Given the description of an element on the screen output the (x, y) to click on. 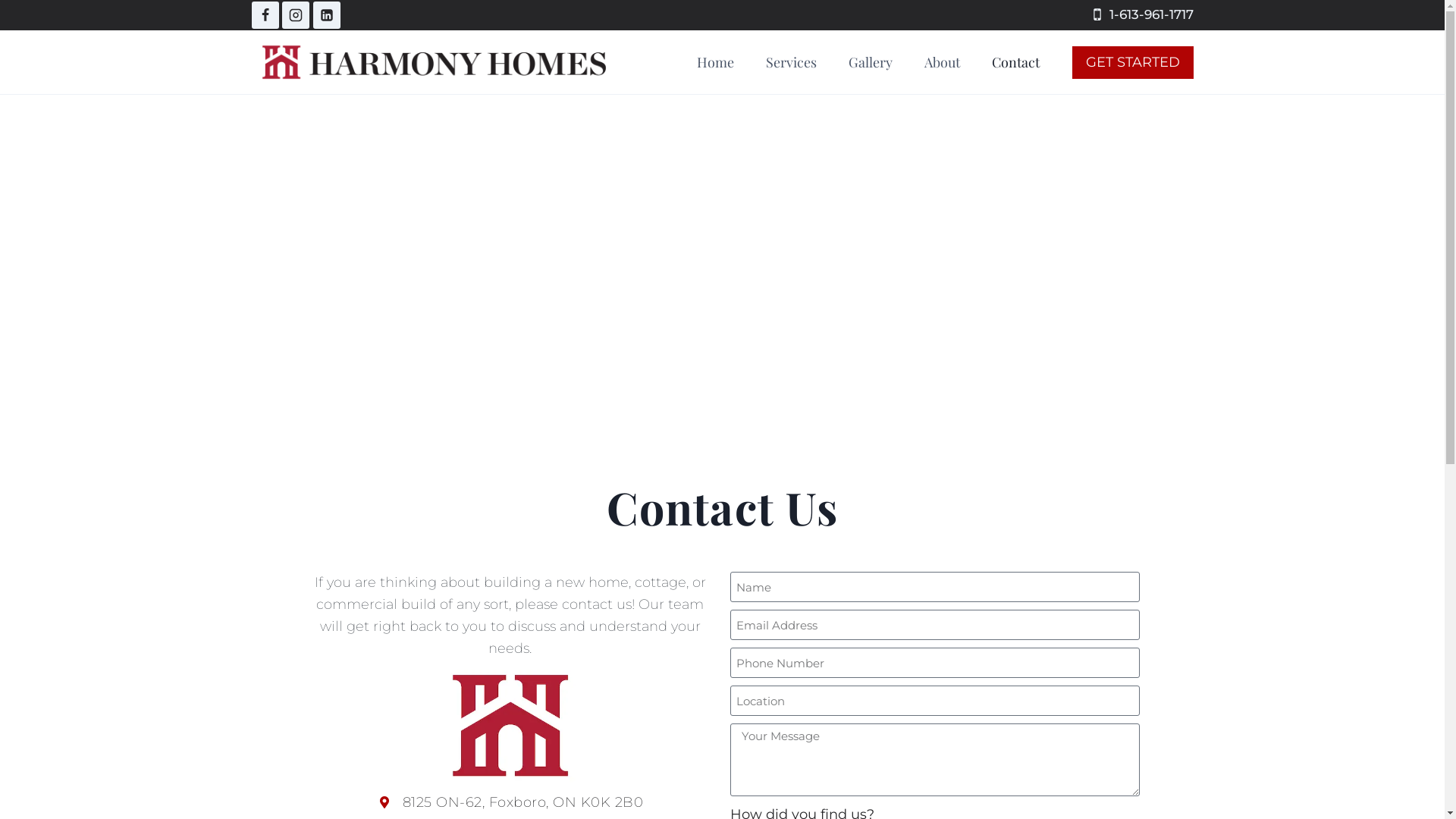
Gallery Element type: text (869, 62)
Home Element type: text (715, 62)
Harmony Homes 8125 Highway 62 Foxboro, ON, K0K 1B0 Element type: hover (722, 270)
1-613-961-1717 Element type: text (1140, 14)
Contact Element type: text (1015, 62)
Services Element type: text (790, 62)
About Element type: text (941, 62)
GET STARTED Element type: text (1132, 62)
